Given the description of an element on the screen output the (x, y) to click on. 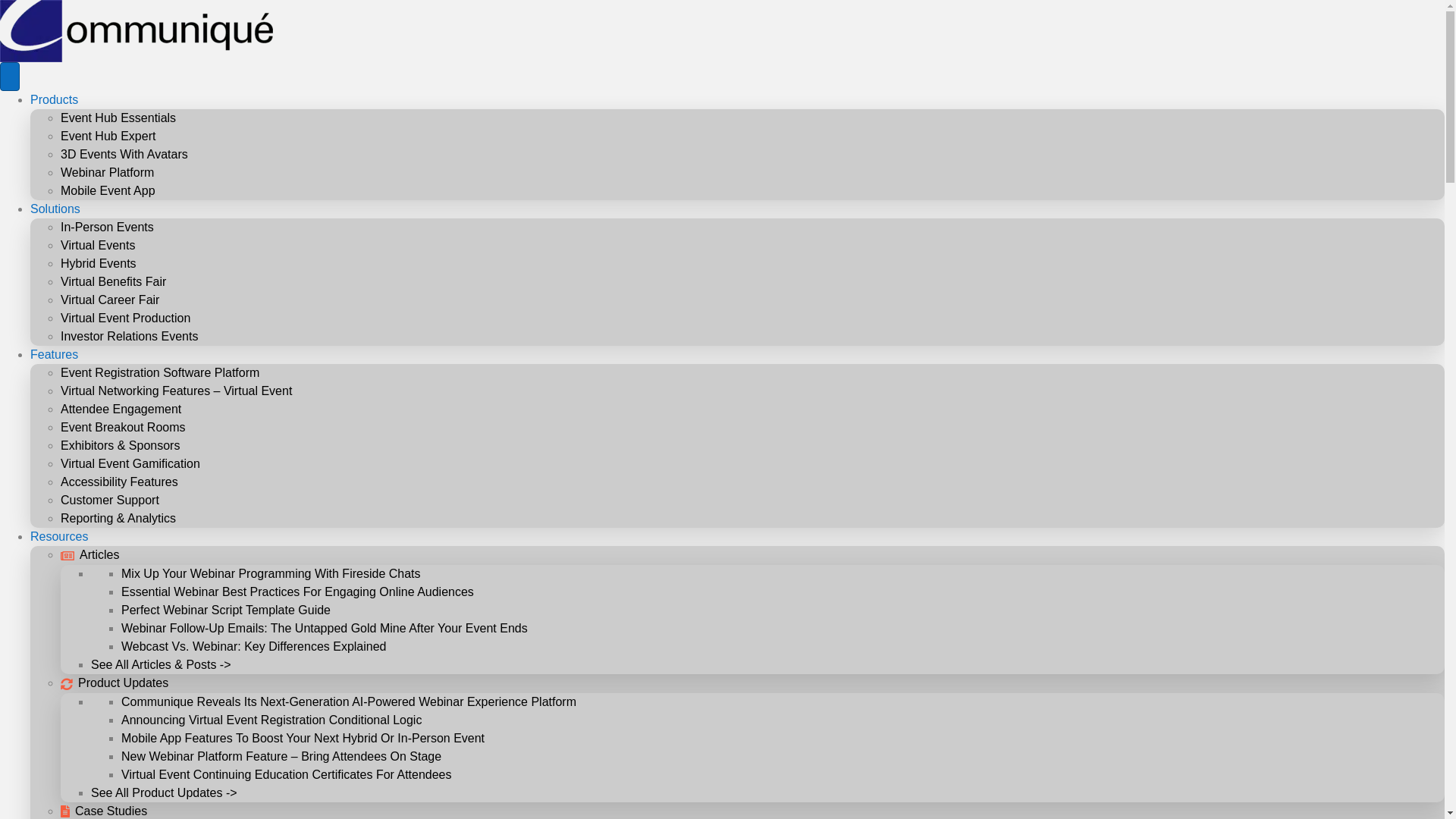
Articles (90, 554)
Products (54, 99)
Customer Support (109, 499)
Accessibility Features (119, 481)
Webcast Vs. Webinar: Key Differences Explained (253, 645)
Event Hub Essentials (118, 117)
Perfect Webinar Script Template Guide (225, 609)
Hybrid Events (98, 263)
Mix Up Your Webinar Programming With Fireside Chats (270, 573)
Virtual Events (98, 245)
Attendee Engagement (120, 408)
Event Registration Software Platform (160, 372)
Webinar Platform (107, 172)
Virtual Event Production (125, 318)
